Given the description of an element on the screen output the (x, y) to click on. 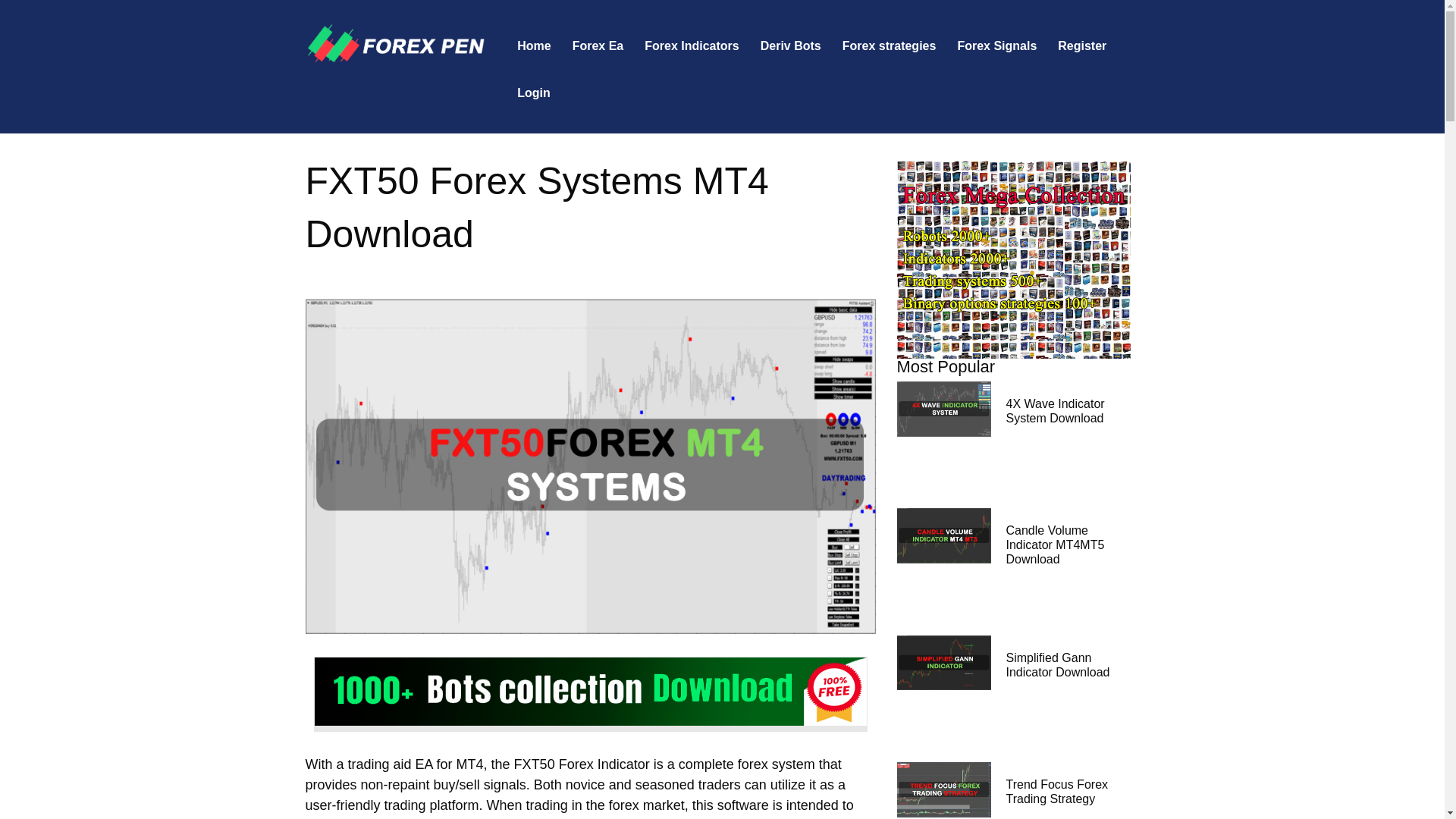
Forex strategies (889, 45)
Register (1081, 45)
Login (533, 93)
Forex Ea (598, 45)
Candle Volume Indicator MT4MT5 Download (1054, 544)
Trend Focus Forex Trading Strategy (1057, 791)
Home (533, 45)
4X Wave Indicator System Download (1054, 411)
Simplified Gann Indicator Download (1057, 664)
Deriv Bots (790, 45)
Forex Signals (996, 45)
Forex Indicators (691, 45)
